Given the description of an element on the screen output the (x, y) to click on. 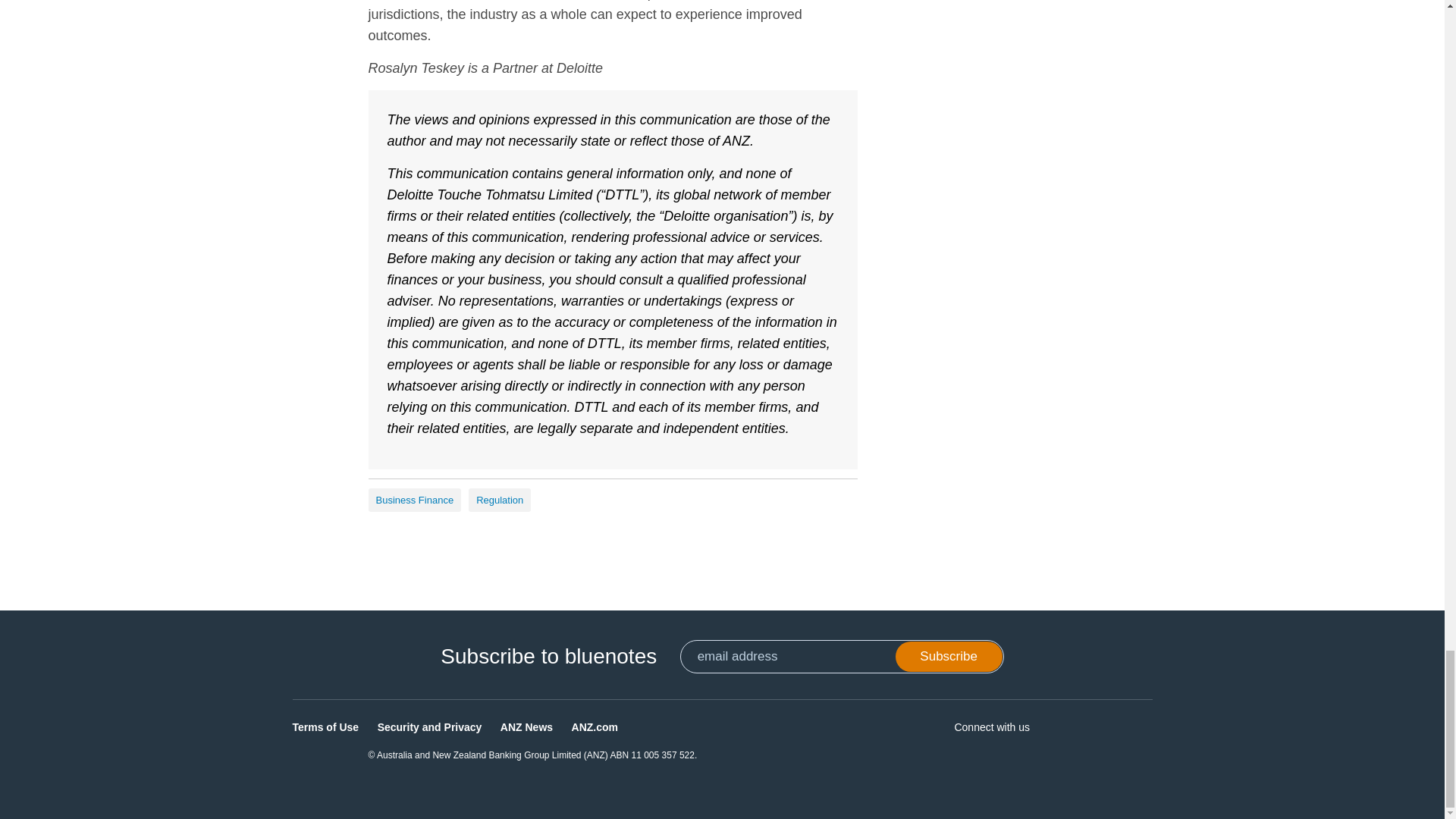
ANZ.com (594, 727)
Regulation (499, 499)
Business Finance (414, 499)
ANZ News (526, 727)
Terms of Use (325, 727)
Security and Privacy (429, 727)
